Given the description of an element on the screen output the (x, y) to click on. 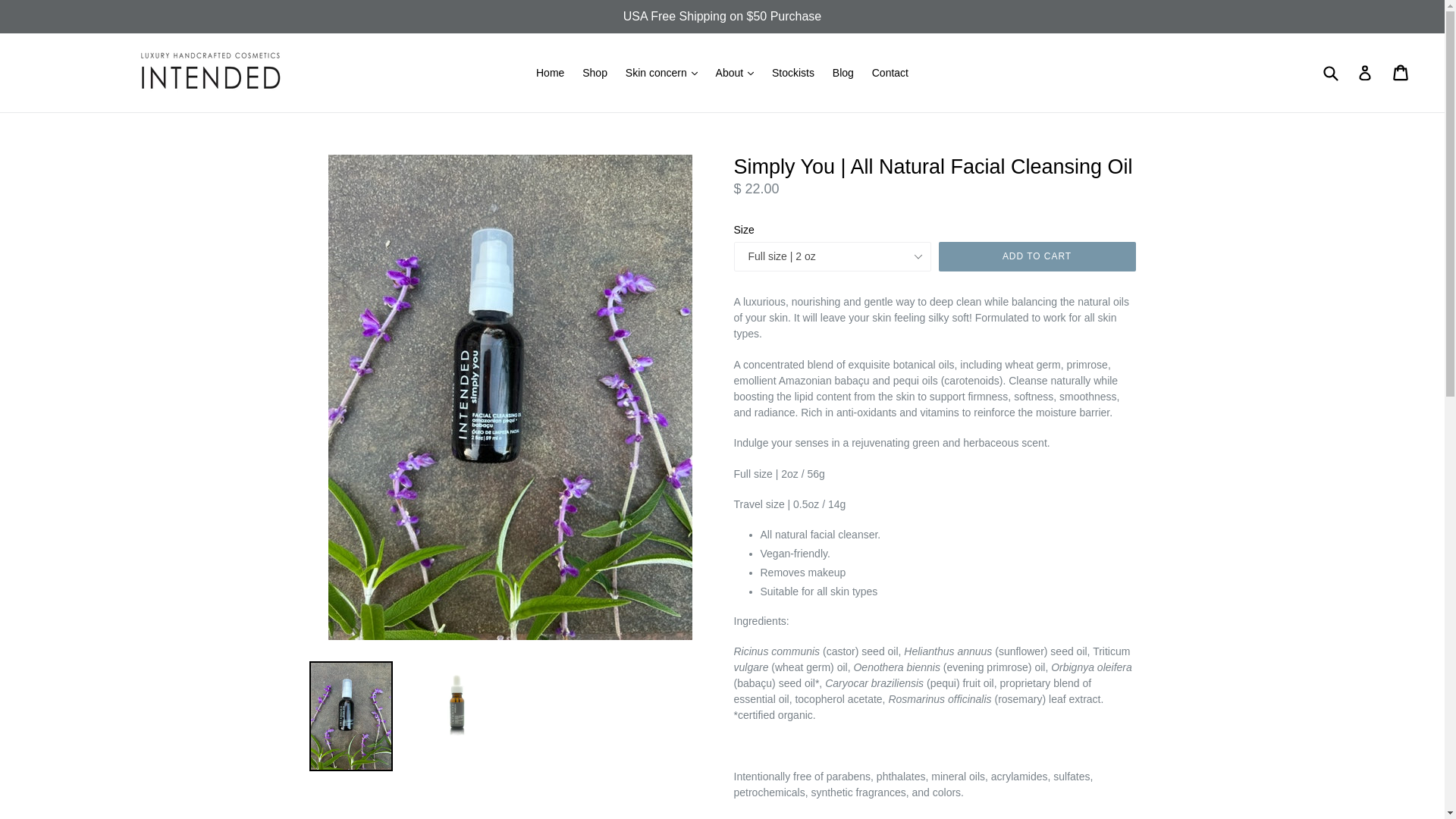
Shop (594, 72)
Blog (843, 72)
Contact (889, 72)
Stockists (793, 72)
Home (550, 72)
ADD TO CART (1037, 256)
